Given the description of an element on the screen output the (x, y) to click on. 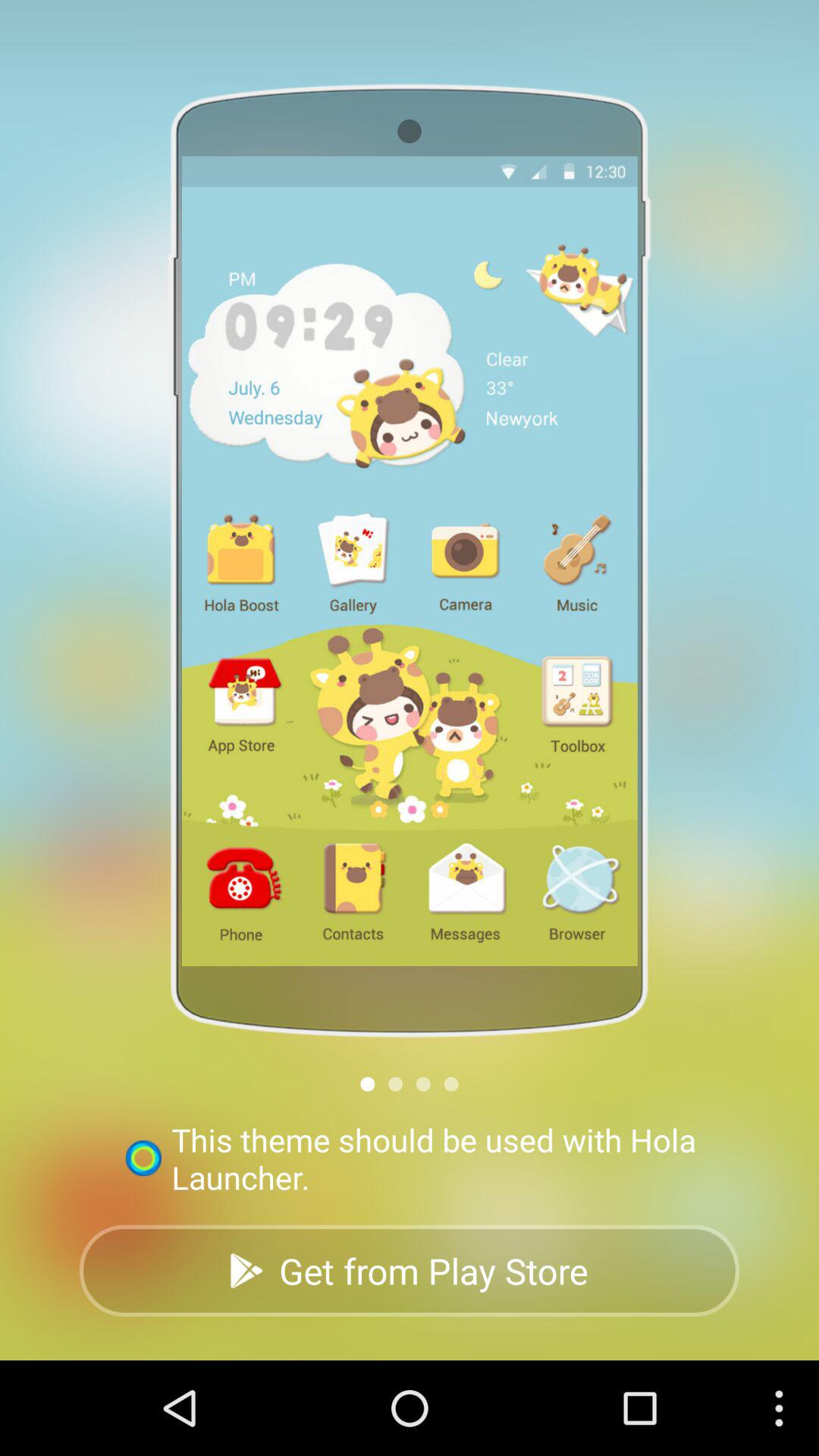
choose the app above this theme should (367, 1084)
